Given the description of an element on the screen output the (x, y) to click on. 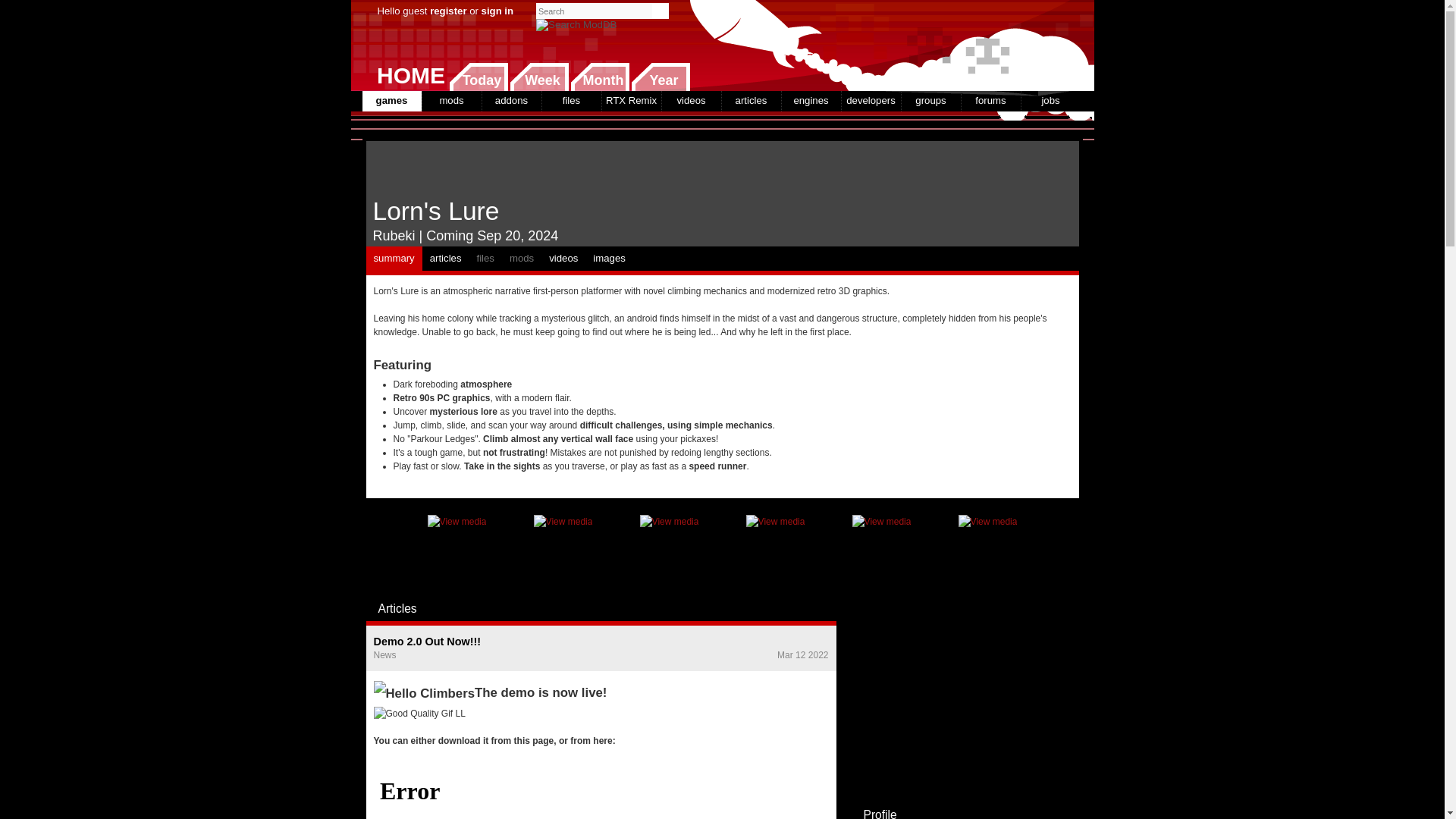
Image 15 (880, 549)
Image 14 (987, 549)
addons (511, 100)
New this week (539, 76)
videos (690, 100)
ModDB Home (965, 45)
Image 16 (775, 549)
New this month (599, 76)
files (570, 100)
Year (660, 76)
